Given the description of an element on the screen output the (x, y) to click on. 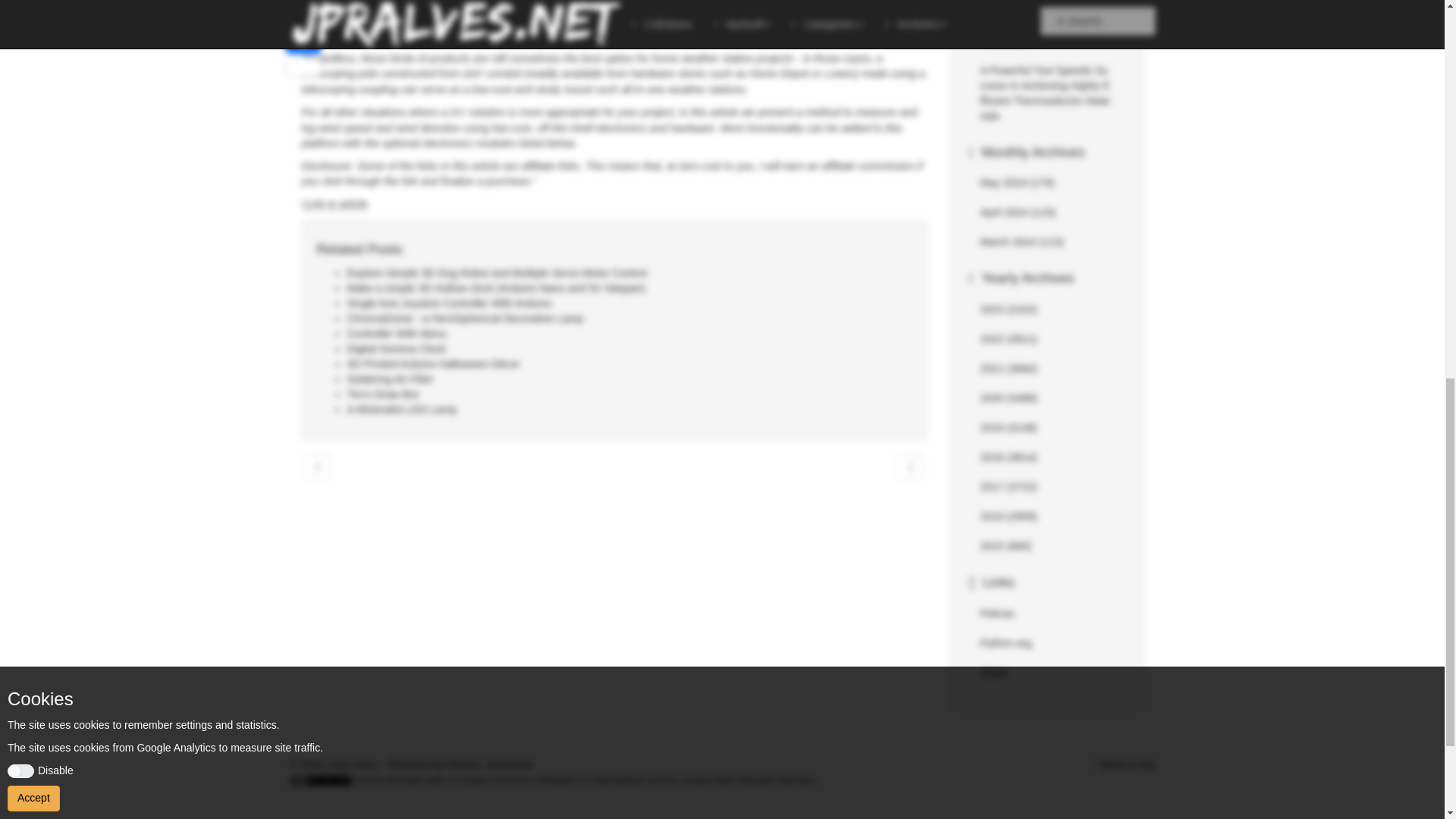
Link for Python.org (1004, 643)
Link for Pelican (996, 613)
Link to article (334, 204)
Single Axis Joystick Controller With Arduino (449, 303)
Explore Simple 3D Dog Robot and Multiple Servo Motor Control (496, 272)
Link for Jinja2 (993, 672)
